Given the description of an element on the screen output the (x, y) to click on. 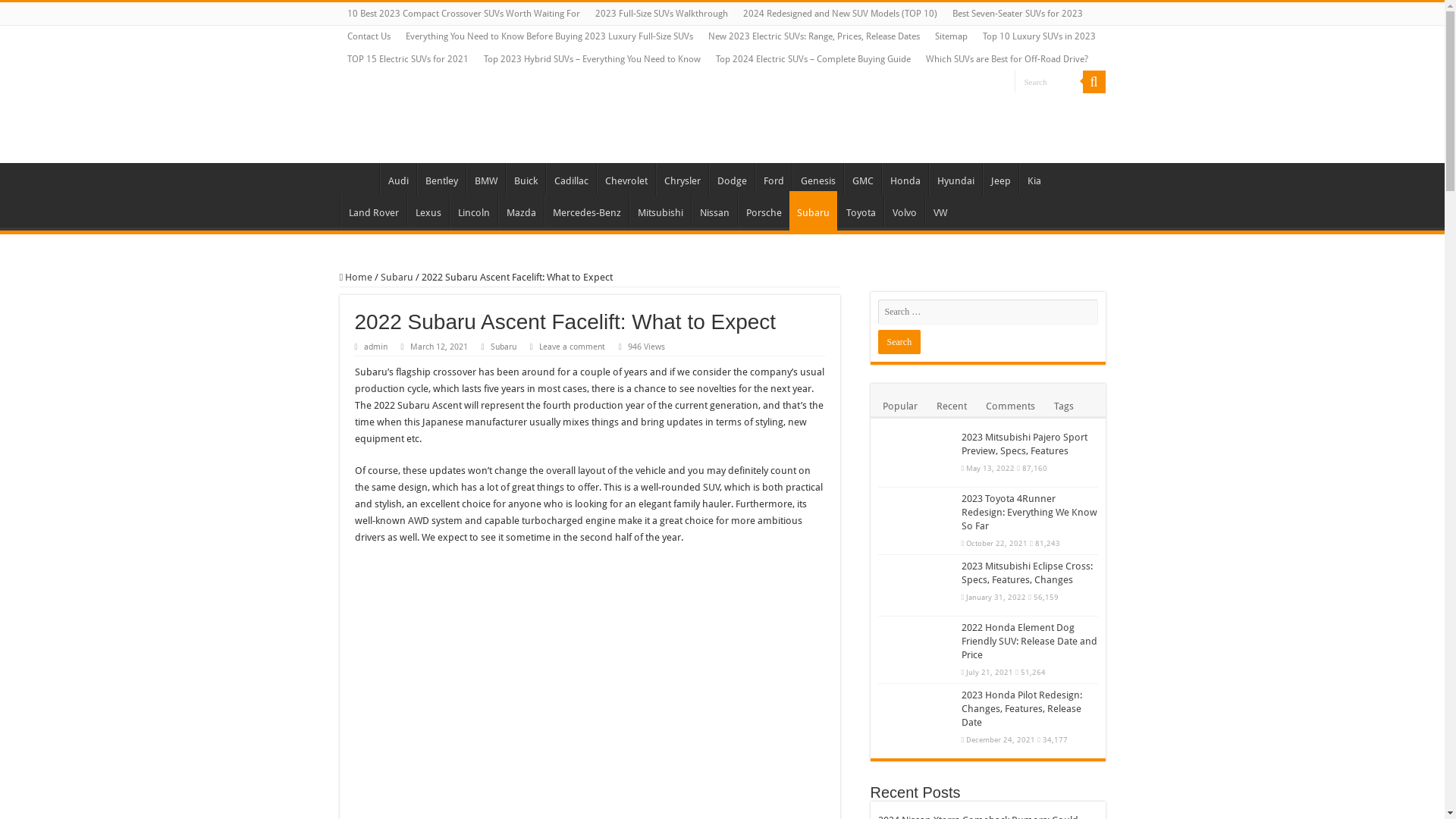
Audi Element type: text (397, 178)
Home Element type: text (356, 276)
Chevrolet Element type: text (625, 178)
Honda Element type: text (904, 178)
Sitemap Element type: text (950, 36)
Buick Element type: text (524, 178)
2024 Redesigned and New SUV Models (TOP 10) Element type: text (839, 13)
Genesis Element type: text (816, 178)
Kia Element type: text (1033, 178)
Bentley Element type: text (441, 178)
Subaru Element type: text (812, 210)
Search Element type: text (1093, 81)
New 2023 Electric SUVs: Range, Prices, Release Dates Element type: text (813, 36)
Mitsubishi Element type: text (659, 210)
Top 10 Luxury SUVs in 2023 Element type: text (1039, 36)
Popular Element type: text (899, 404)
TOP 15 Electric SUVs for 2021 Element type: text (407, 58)
Jeep Element type: text (1000, 178)
2022 Honda Element Dog Friendly SUV: Release Date and Price Element type: text (1029, 640)
Nissan Element type: text (714, 210)
Best Seven-Seater SUVs for 2023 Element type: text (1017, 13)
Which SUVs are Best for Off-Road Drive? Element type: text (1006, 58)
2023 Honda Pilot Redesign: Changes, Features, Release Date Element type: text (1021, 708)
Contact Us Element type: text (368, 36)
10 Best 2023 Compact Crossover SUVs Worth Waiting For Element type: text (463, 13)
2023 Full-Size SUVs Walkthrough Element type: text (660, 13)
GMC Element type: text (861, 178)
Mercedes-Benz Element type: text (586, 210)
Tags Element type: text (1062, 404)
Volvo Element type: text (904, 210)
Hyundai Element type: text (954, 178)
Porsche Element type: text (762, 210)
2023 Mitsubishi Pajero Sport Preview, Specs, Features Element type: text (1024, 443)
Mazda Element type: text (519, 210)
2023 Mitsubishi Eclipse Cross: Specs, Features, Changes Element type: text (1026, 572)
Subaru Element type: text (503, 346)
Ford Element type: text (773, 178)
Search Element type: hover (1048, 81)
Chrysler Element type: text (681, 178)
2023 Toyota 4Runner Redesign: Everything We Know So Far Element type: text (1029, 511)
Land Rover Element type: text (372, 210)
Dodge Element type: text (730, 178)
Leave a comment Element type: text (572, 346)
Home Element type: text (359, 178)
Lexus Element type: text (427, 210)
admin Element type: text (375, 346)
Search Element type: text (899, 341)
Lincoln Element type: text (472, 210)
BMW Element type: text (484, 178)
Recent Element type: text (951, 404)
Cadillac Element type: text (571, 178)
Toyota Element type: text (859, 210)
Comments Element type: text (1009, 404)
VW Element type: text (939, 210)
Subaru Element type: text (396, 276)
